Given the description of an element on the screen output the (x, y) to click on. 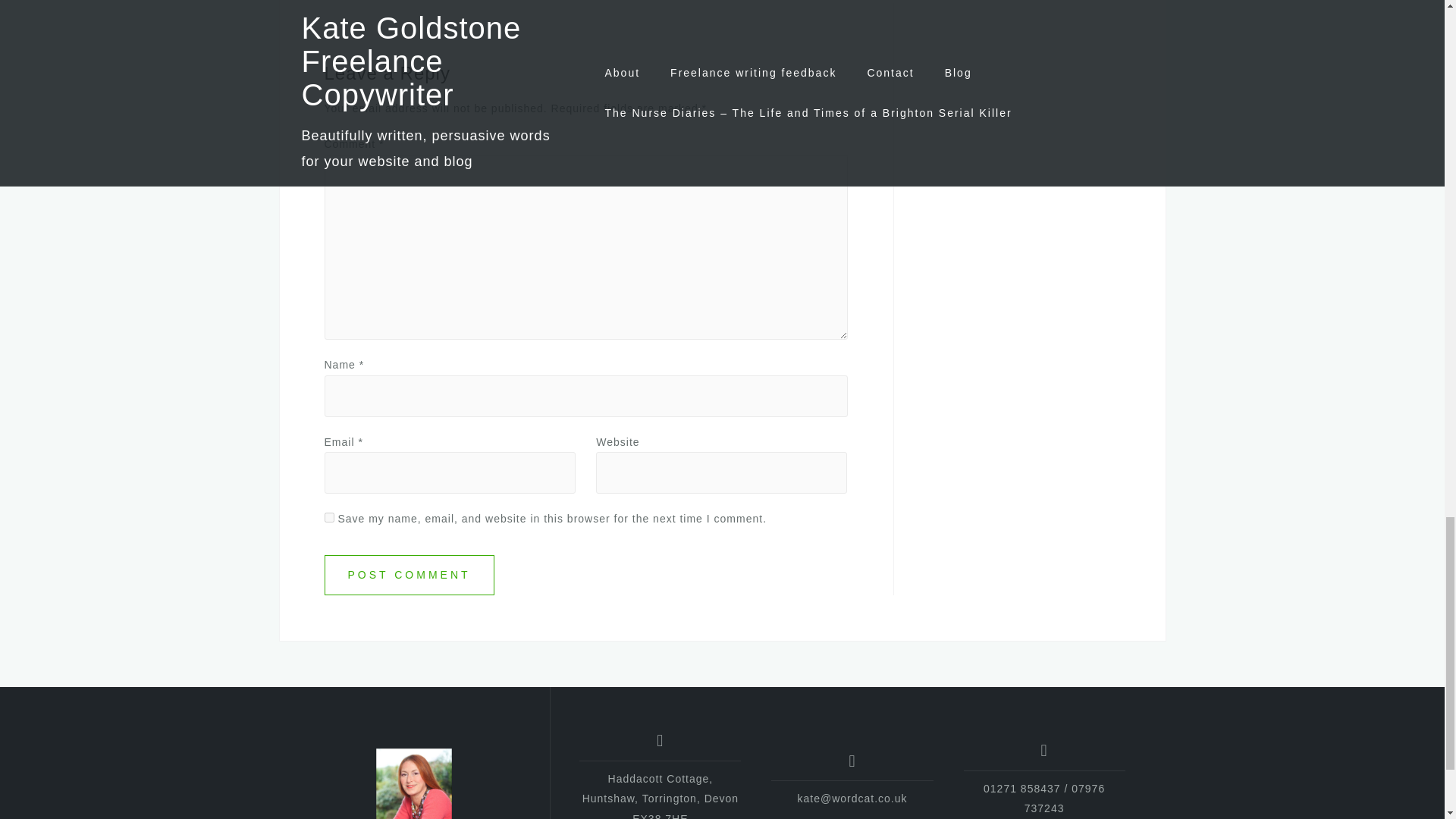
Kate Goldstone Freelance Copywriter (413, 783)
yes (329, 517)
Post Comment (409, 575)
Post Comment (409, 575)
